Given the description of an element on the screen output the (x, y) to click on. 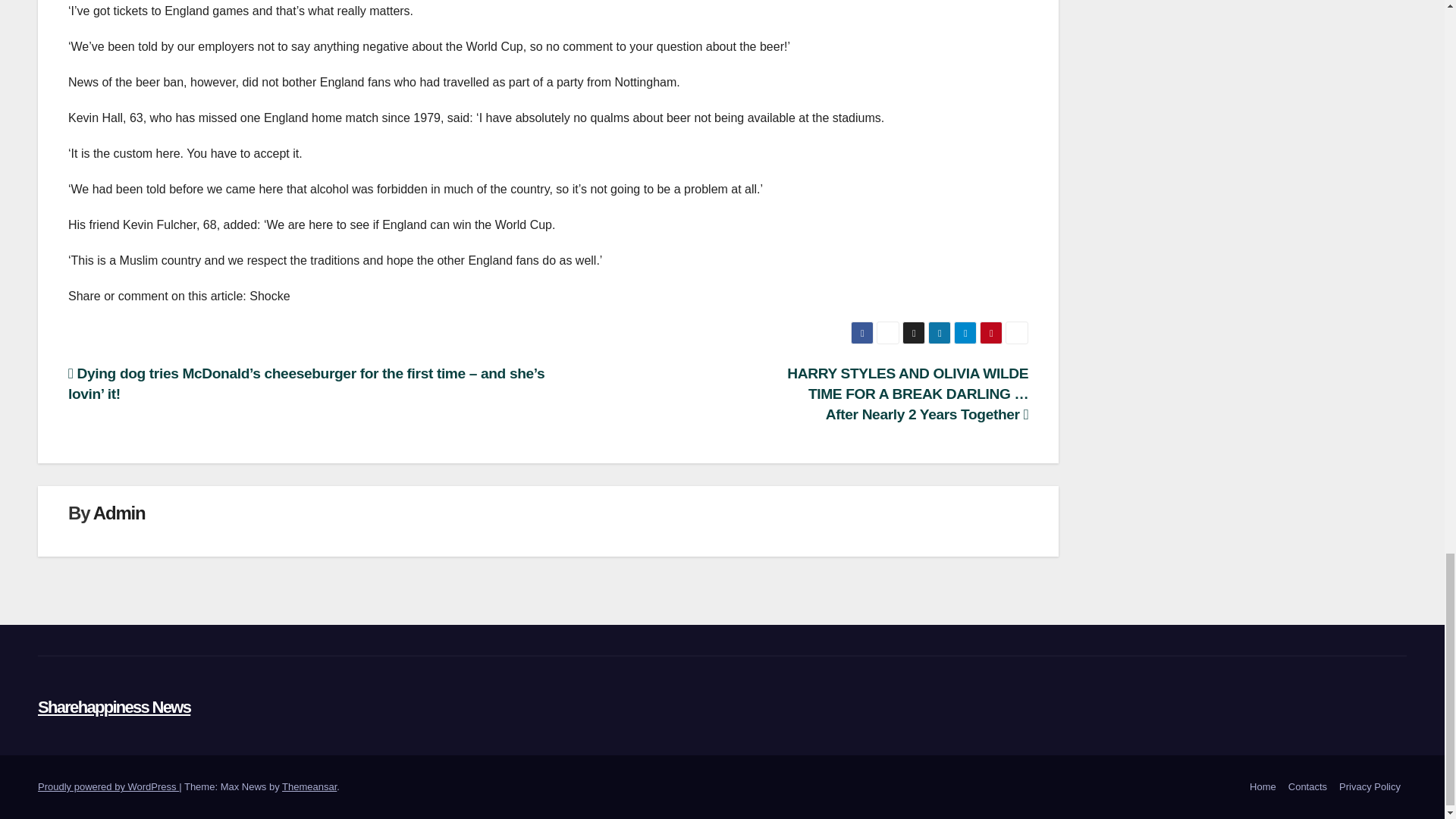
Sharehappiness News (113, 706)
Home (1262, 786)
Admin (119, 512)
